Given the description of an element on the screen output the (x, y) to click on. 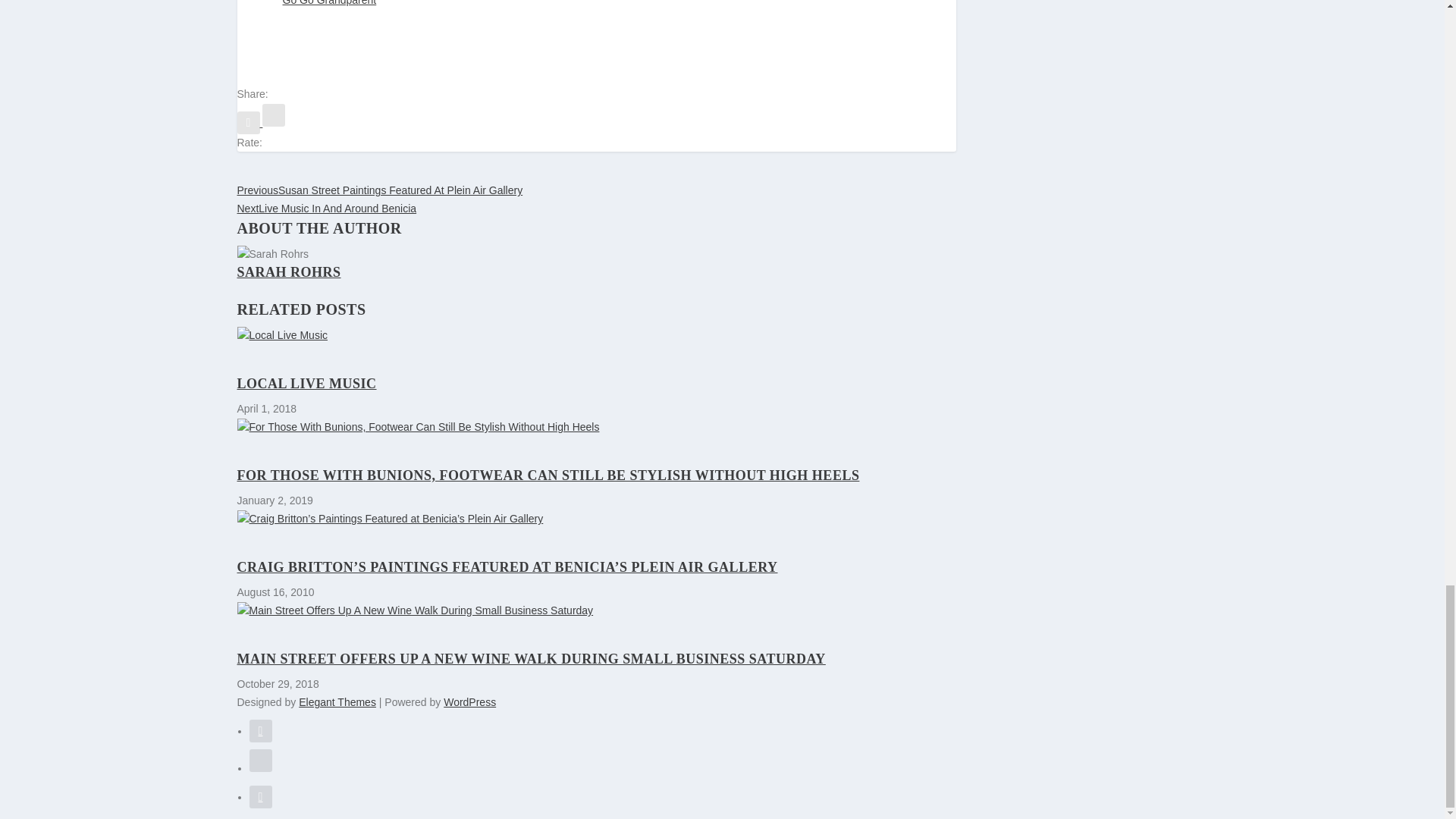
Local Live Music (595, 335)
View all posts by Sarah Rohrs (287, 272)
